Given the description of an element on the screen output the (x, y) to click on. 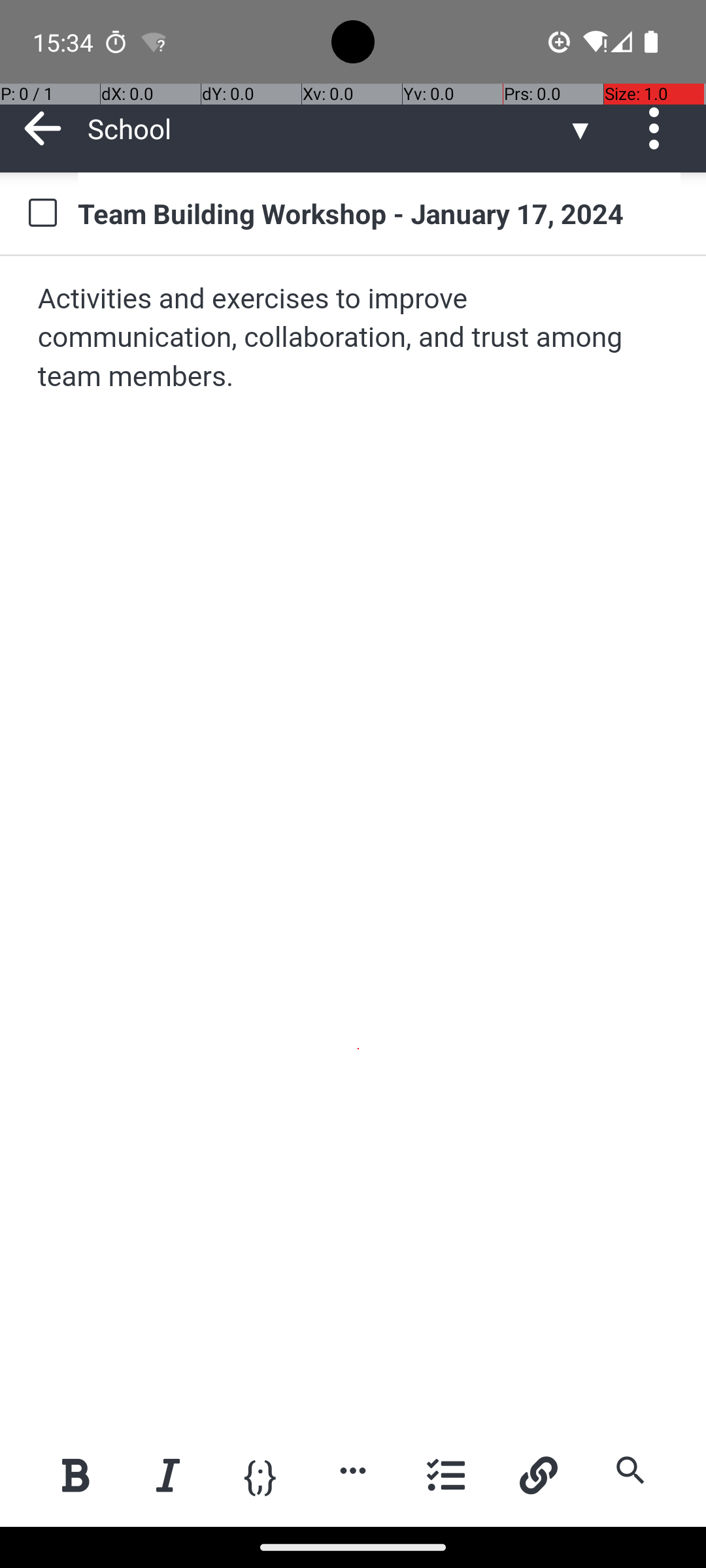
Team Building Workshop - January 17, 2024 Element type: android.widget.EditText (378, 213)
Activities and exercises to improve communication, collaboration, and trust among team members. Element type: android.widget.EditText (354, 338)
